Given the description of an element on the screen output the (x, y) to click on. 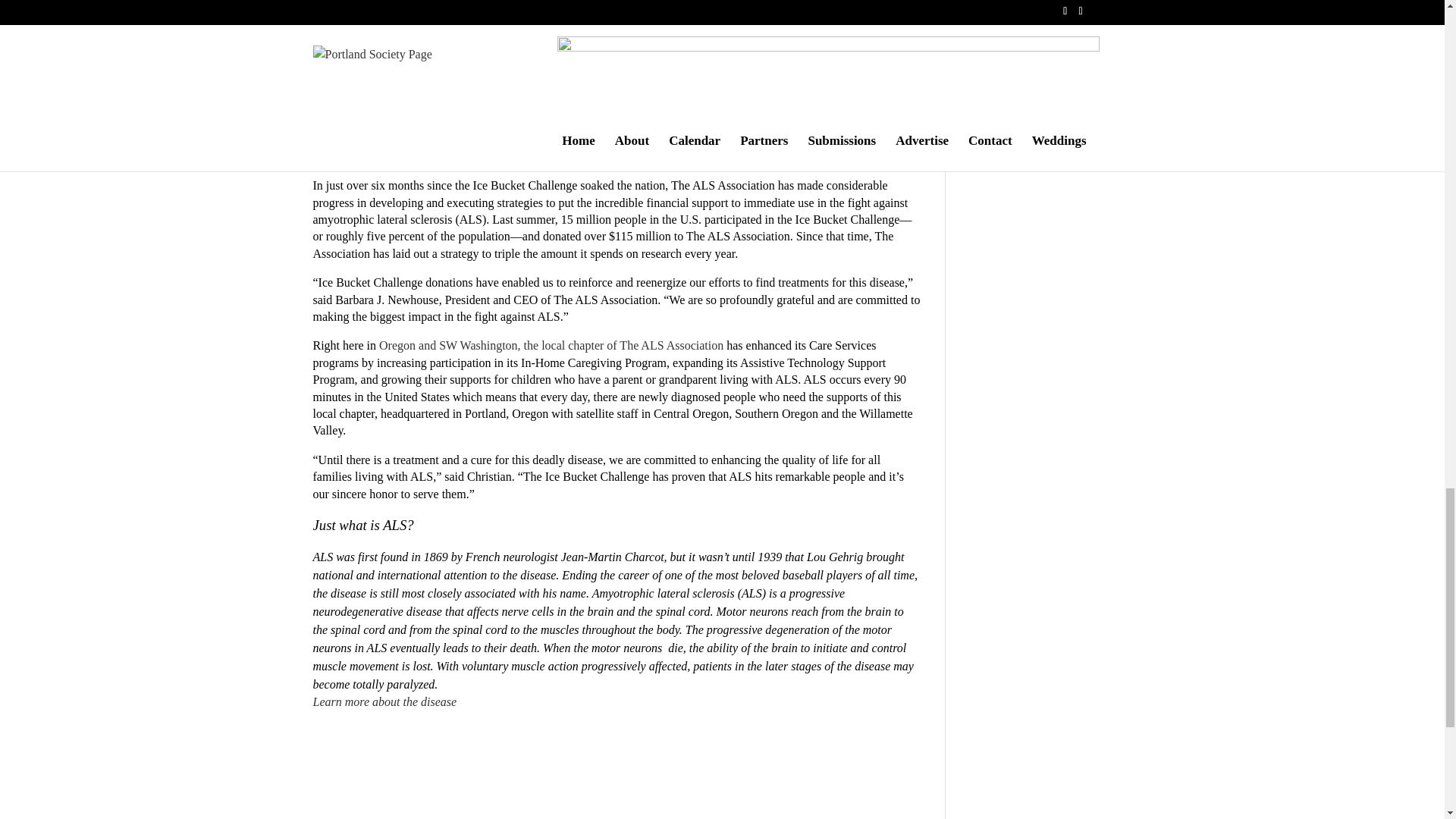
Learn more about the disease (385, 701)
